Given the description of an element on the screen output the (x, y) to click on. 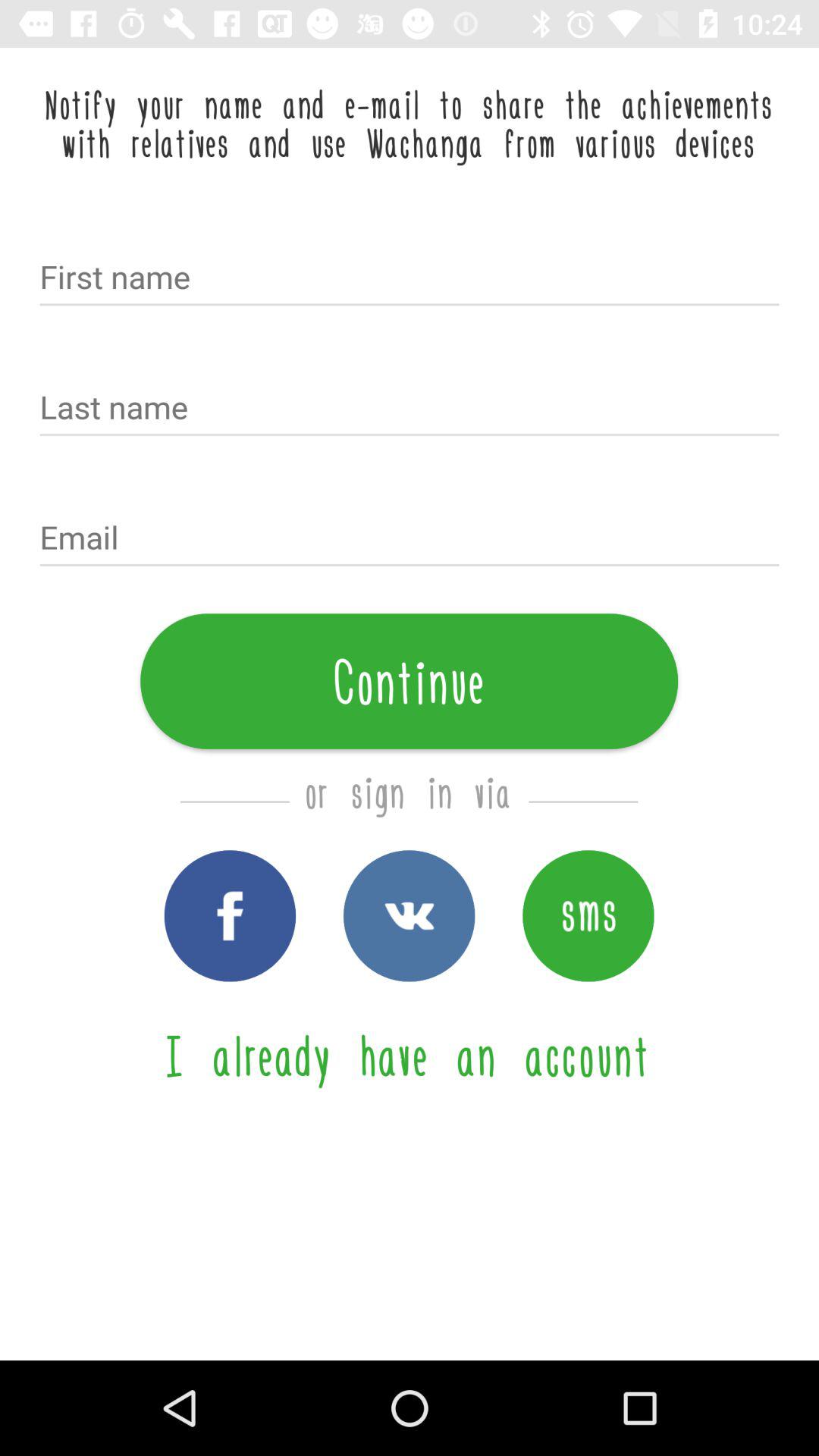
swipe to the i already have (409, 1055)
